Given the description of an element on the screen output the (x, y) to click on. 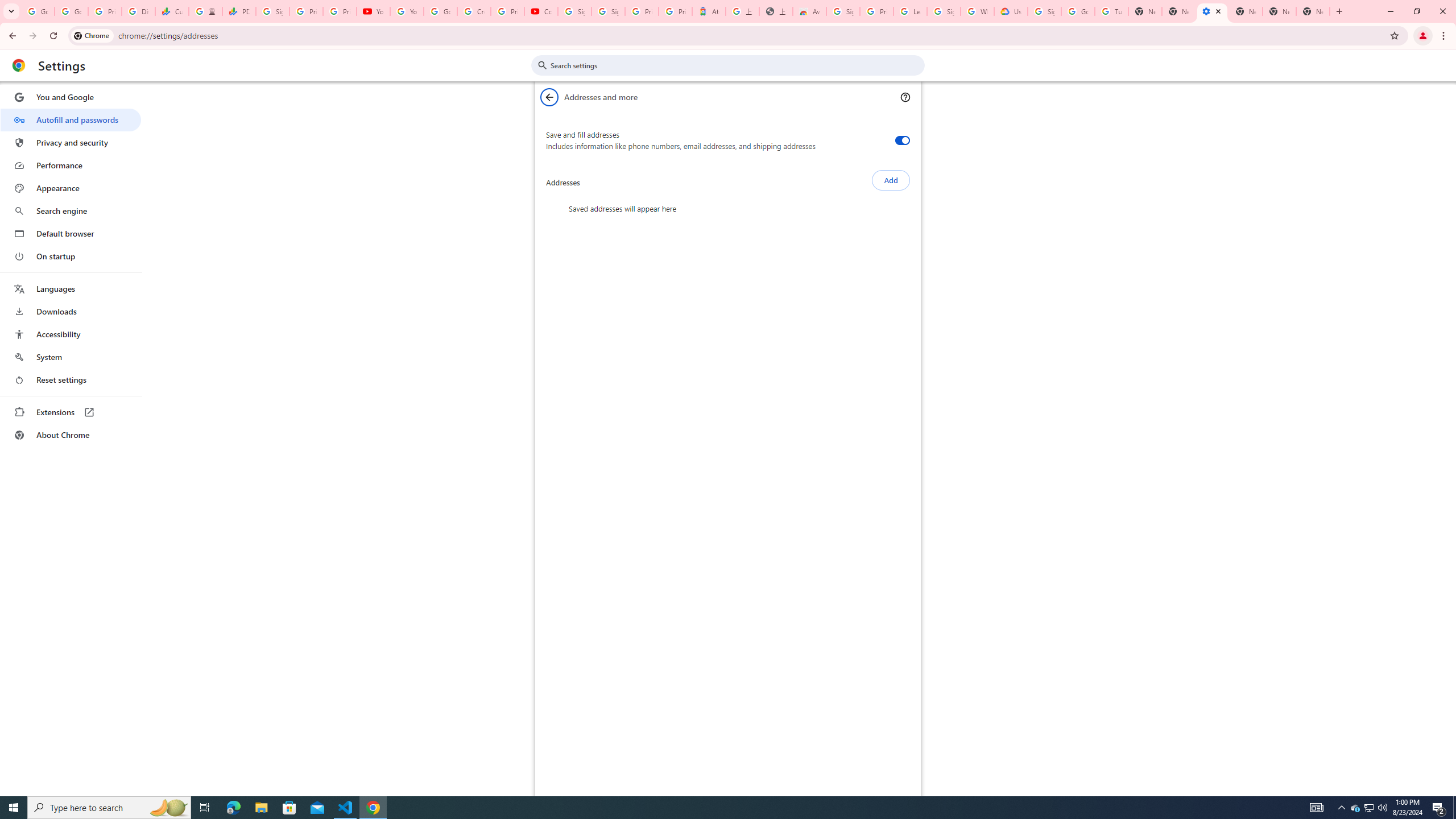
Privacy and security (70, 142)
Privacy Checkup (339, 11)
New Tab (1313, 11)
YouTube (406, 11)
Search engine (70, 210)
Sign in - Google Accounts (842, 11)
Turn cookies on or off - Computer - Google Account Help (1111, 11)
Awesome Screen Recorder & Screenshot - Chrome Web Store (809, 11)
